Given the description of an element on the screen output the (x, y) to click on. 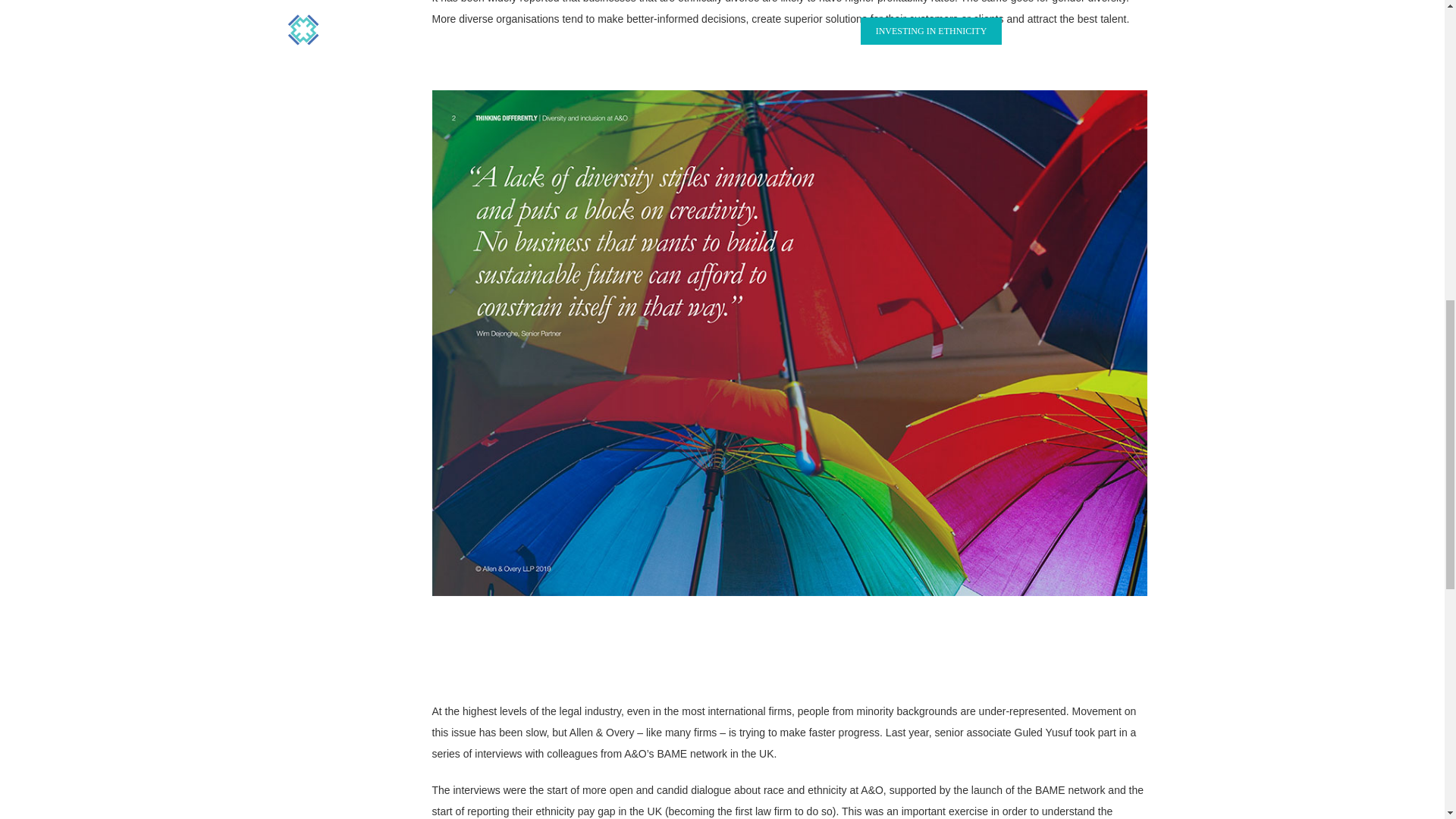
Page 6 (789, 760)
Page 6 (789, 14)
